Given the description of an element on the screen output the (x, y) to click on. 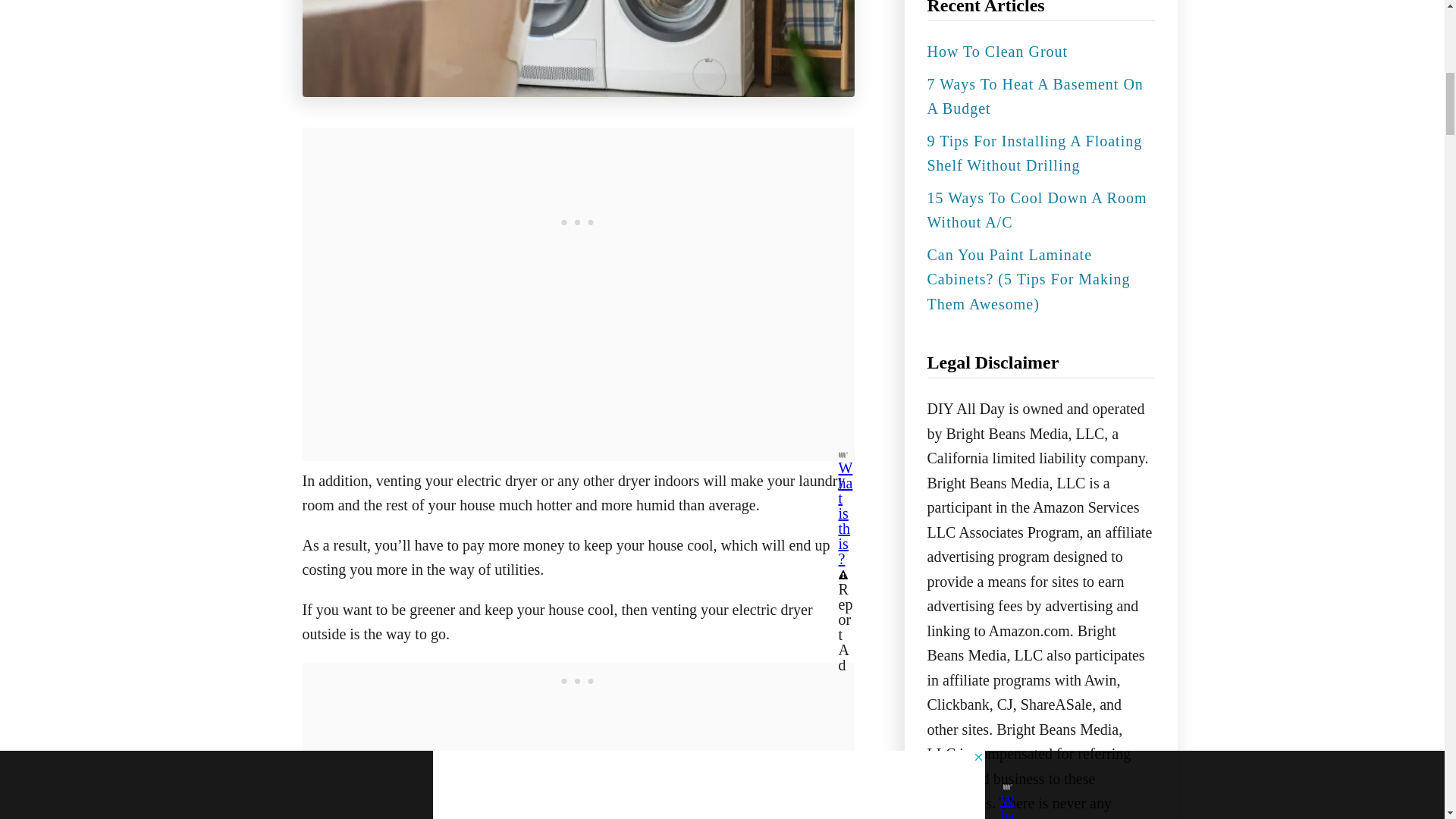
3rd party ad content (577, 680)
9 Tips For Installing A Floating Shelf Without Drilling (1033, 153)
How To Clean Grout  (998, 51)
7 Ways To Heat A Basement On A Budget (1034, 96)
3rd party ad content (577, 221)
